Given the description of an element on the screen output the (x, y) to click on. 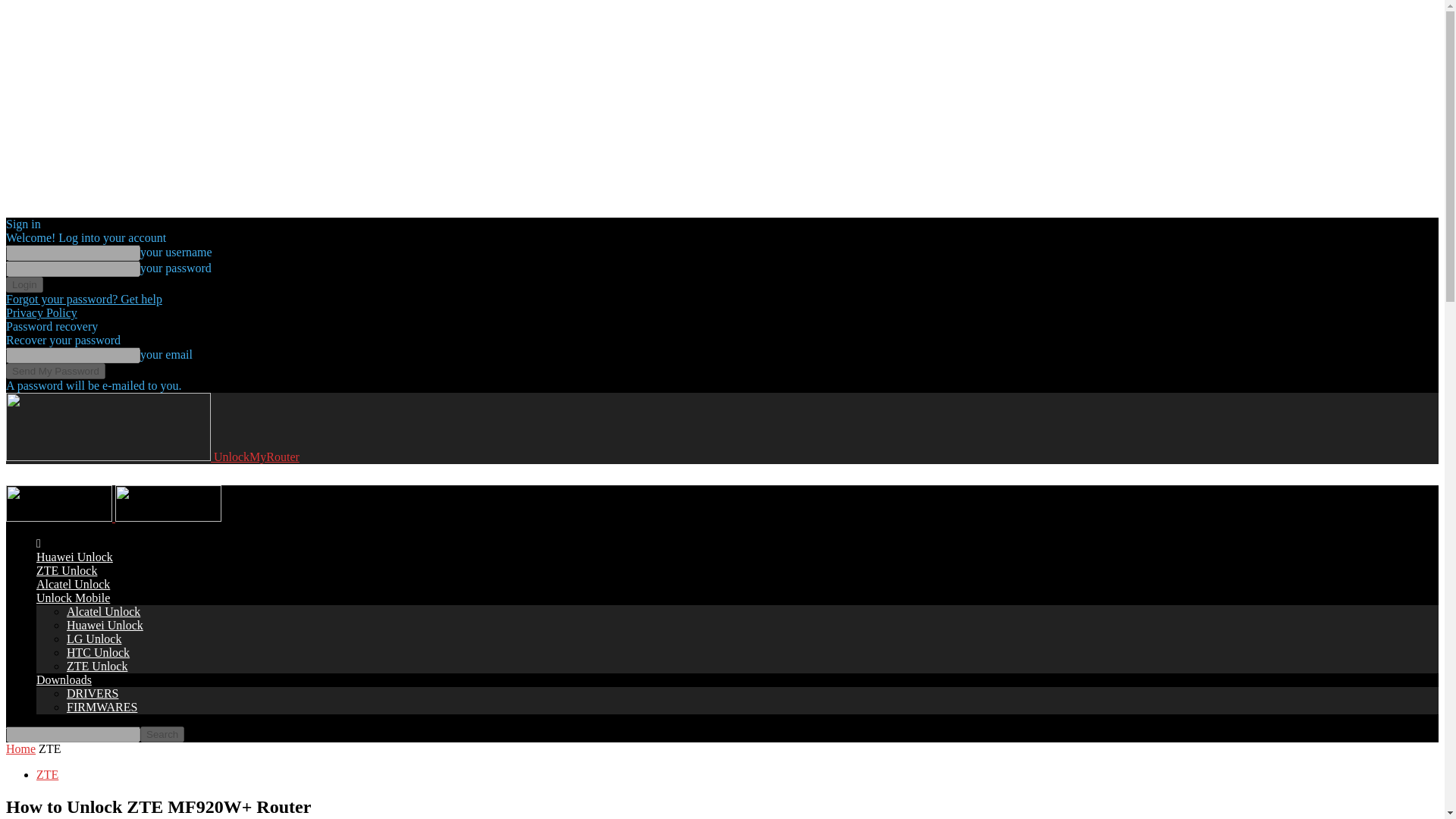
Search (161, 734)
Send My Password (54, 371)
HTC Unlock (97, 652)
Alcatel Unlock (73, 584)
Forgot your password? Get help (83, 298)
UnlockMyRouter (152, 456)
Login (24, 284)
LG Unlock (93, 638)
Alcatel Unlock (102, 611)
Privacy Policy (41, 312)
ZTE Unlock (97, 666)
Huawei Unlock (74, 556)
ZTE Unlock (66, 570)
Unlock Mobile (73, 597)
Huawei Unlock (104, 625)
